Given the description of an element on the screen output the (x, y) to click on. 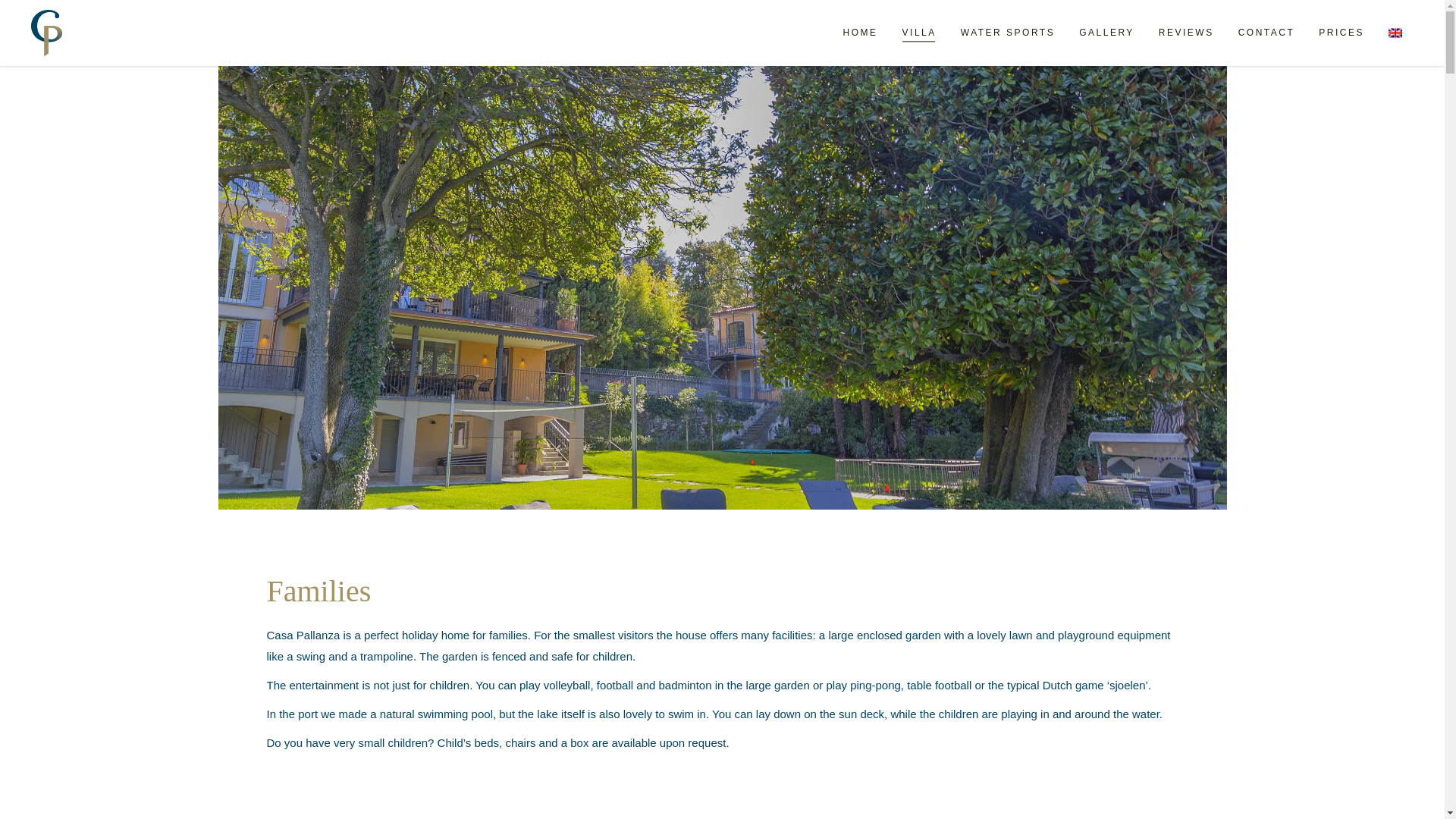
PRICES (1340, 33)
WATER SPORTS (1008, 33)
HOME (860, 33)
CONTACT (1266, 33)
GALLERY (1107, 33)
REVIEWS (1186, 33)
